Given the description of an element on the screen output the (x, y) to click on. 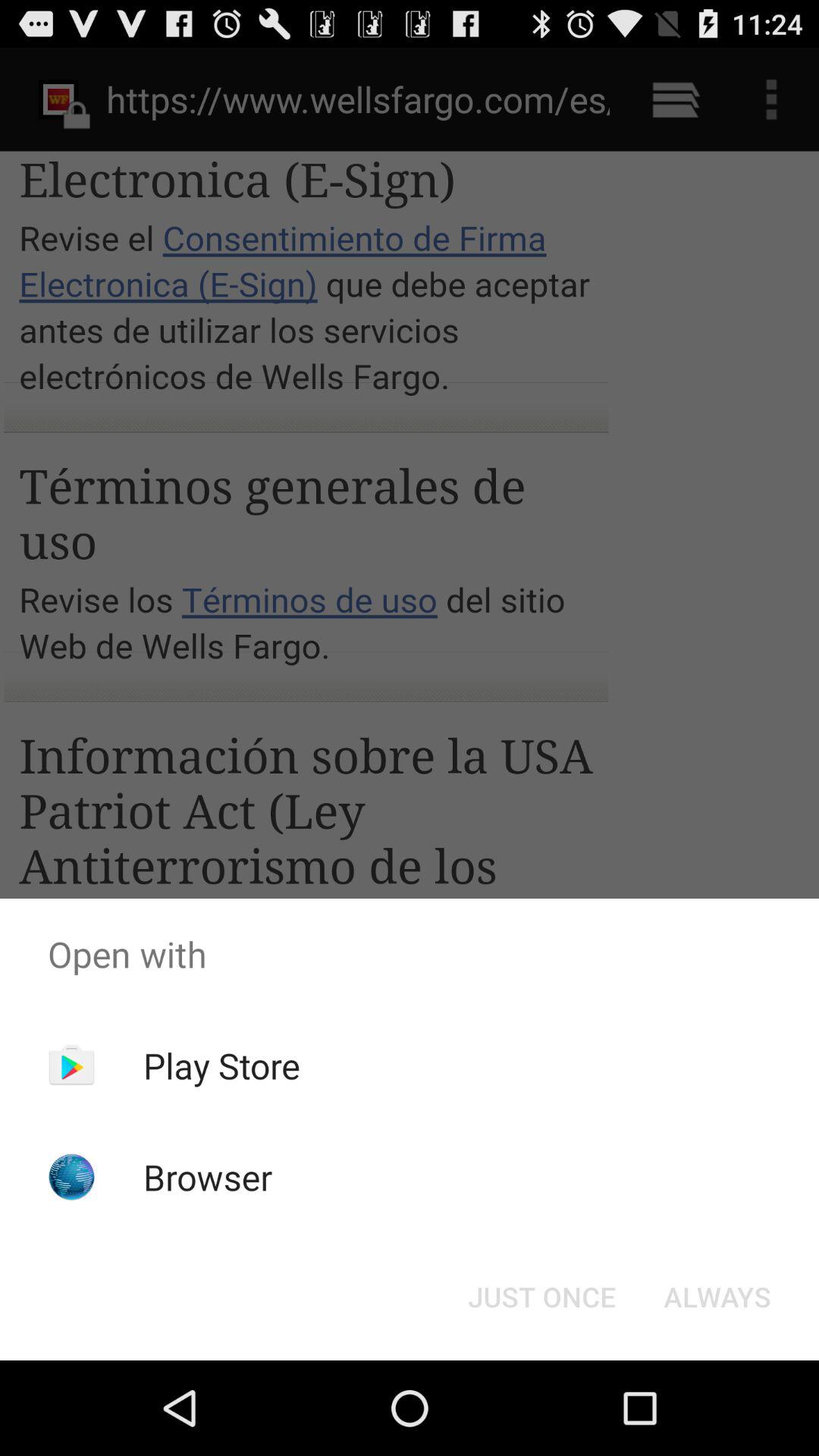
flip until the always item (717, 1296)
